Given the description of an element on the screen output the (x, y) to click on. 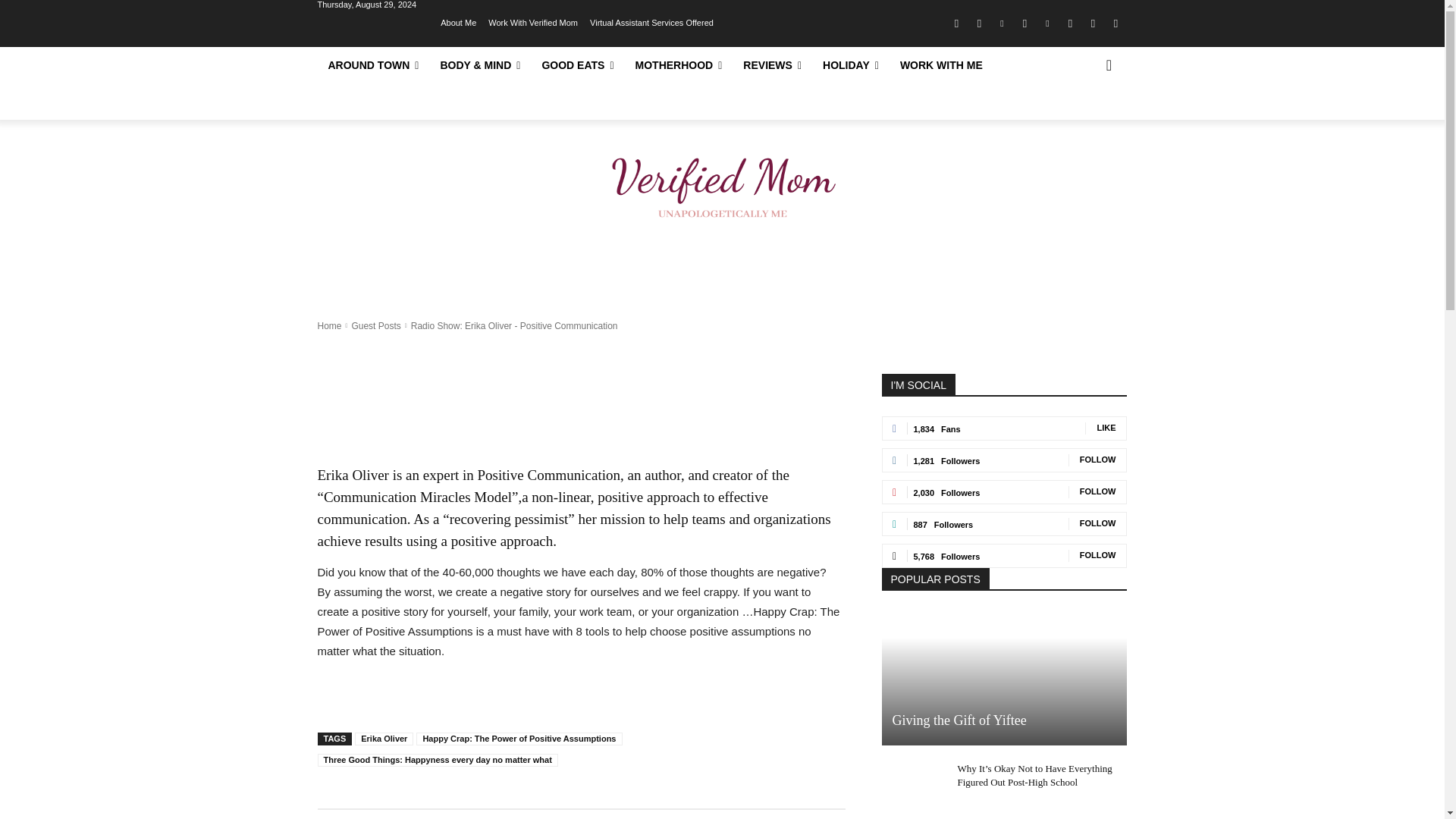
AROUND TOWN (373, 64)
Mail (1024, 23)
Virtual Assistant Services Offered (651, 22)
Facebook (956, 23)
Instagram (979, 23)
Linkedin (1001, 23)
Pinterest (1046, 23)
About Me (458, 22)
Work With Verified Mom (532, 22)
